Given the description of an element on the screen output the (x, y) to click on. 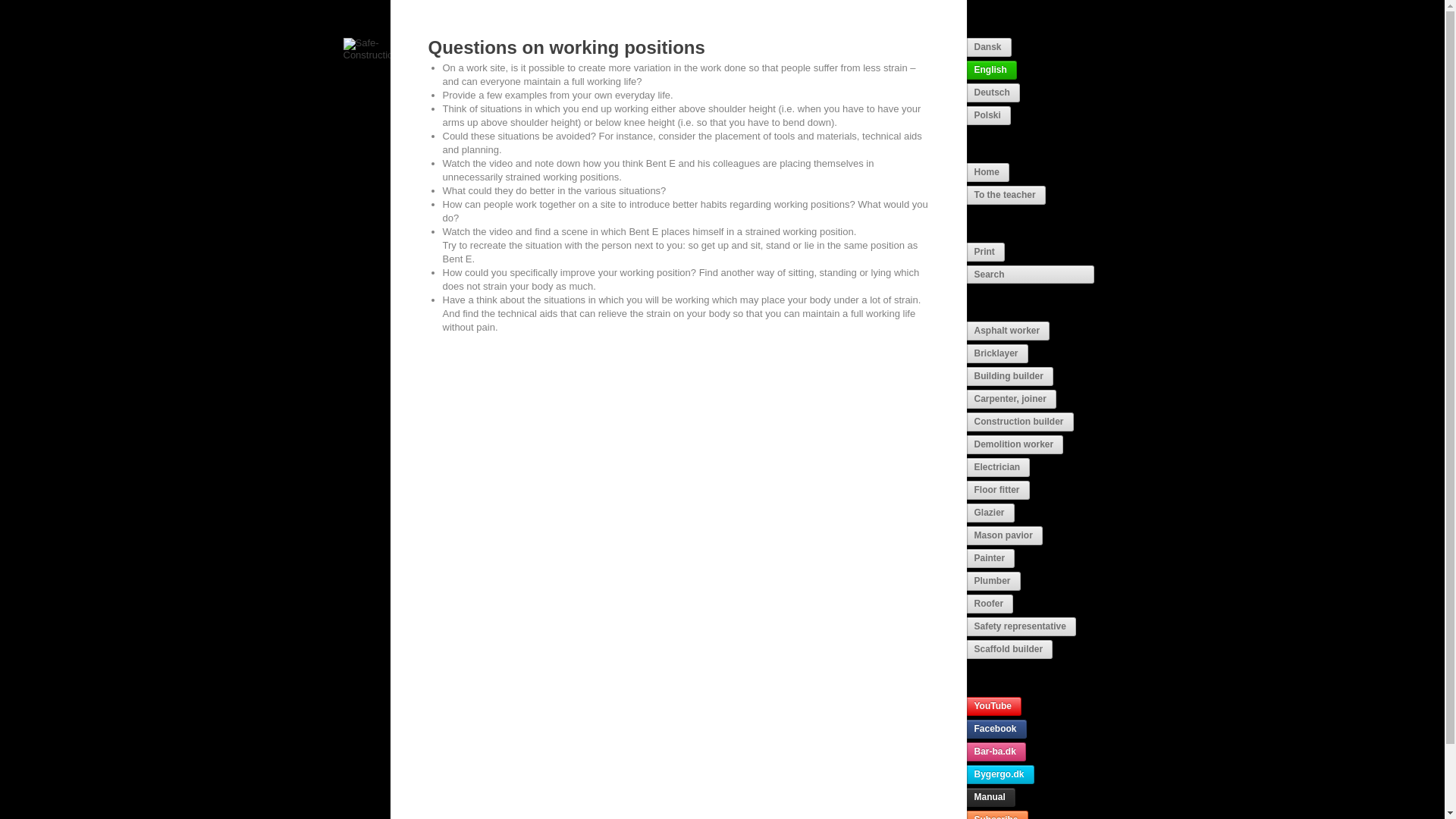
YouTube (994, 705)
Painter (990, 558)
Bar-ba.dk (995, 751)
To the teacher (1005, 194)
Roofer (989, 603)
Asphalt worker (1007, 330)
Mason pavior (1004, 535)
Deutsch (992, 92)
Manual (990, 796)
Polski (988, 115)
